Given the description of an element on the screen output the (x, y) to click on. 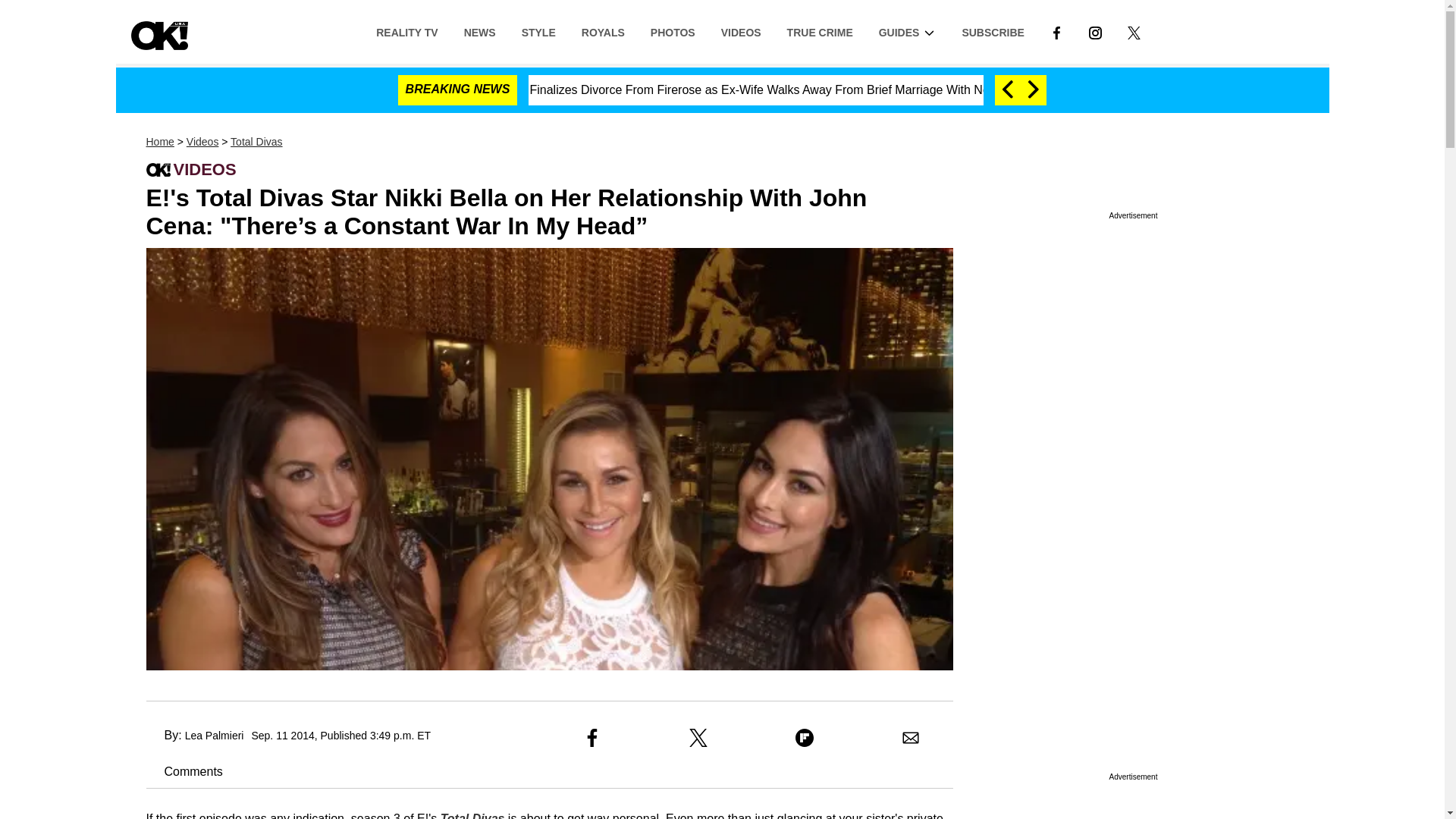
REALITY TV (405, 31)
ROYALS (603, 31)
LINK TO FACEBOOK (1055, 31)
PHOTOS (672, 31)
Total Divas (256, 141)
Share to Flipboard (803, 737)
LINK TO X (1133, 32)
Link to X (1134, 31)
Videos (202, 141)
Lea Palmieri (214, 735)
